Given the description of an element on the screen output the (x, y) to click on. 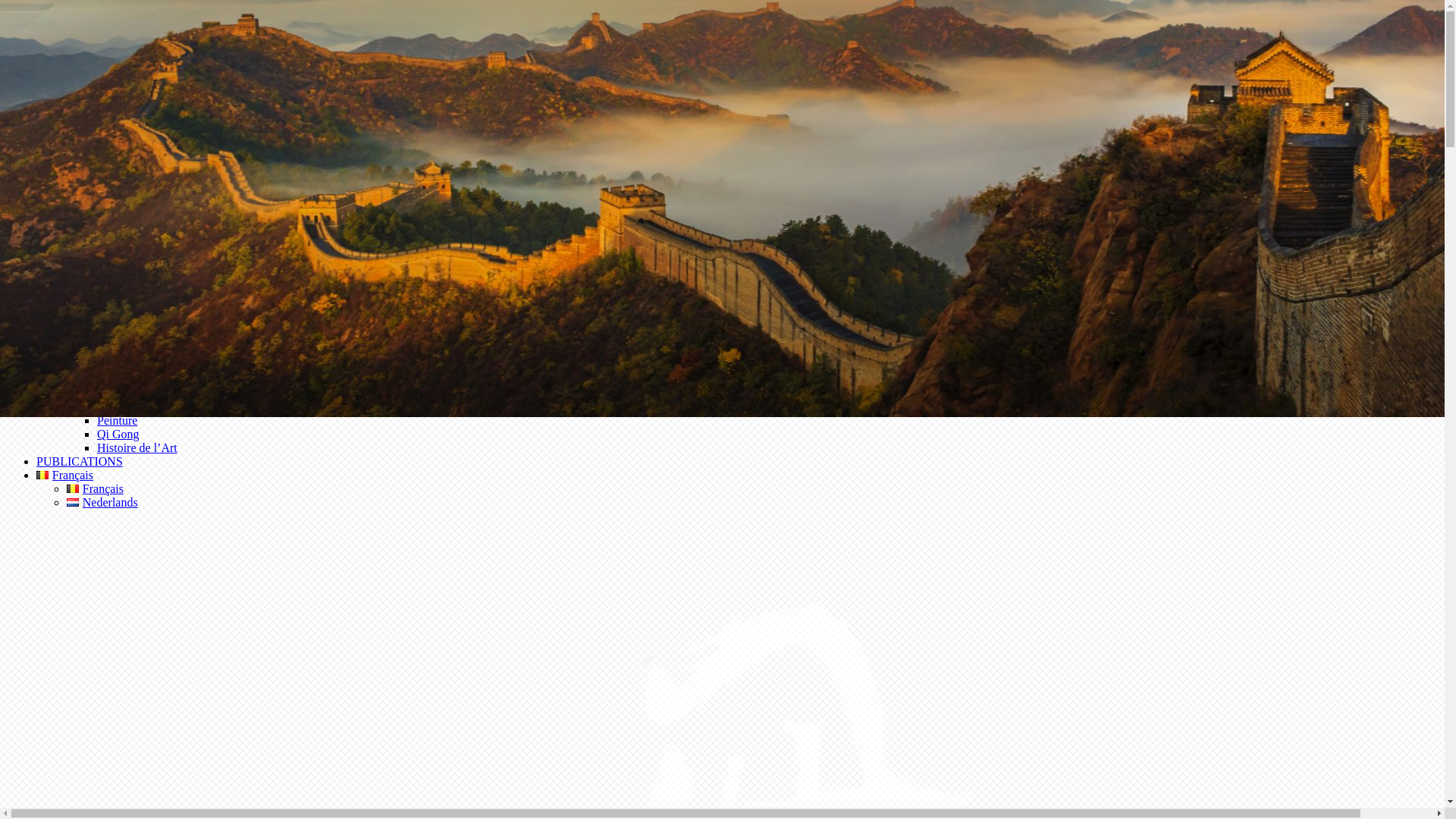
Qi Gong Element type: text (118, 433)
Nederlands Element type: hover (72, 502)
ACTUALITES Element type: text (73, 51)
Langue chinoise (Mandarin) Element type: text (166, 406)
Collaborateurs Element type: text (102, 106)
Voyages Element type: text (86, 351)
Nederlands Element type: text (102, 501)
Peinture Element type: text (117, 420)
Workshop Element type: text (91, 338)
Cours Element type: text (80, 379)
Informations pratiques Element type: text (121, 119)
Skip to content Element type: text (42, 12)
PUBLICATIONS Element type: text (79, 461)
Liens Element type: text (80, 147)
Calligraphie Element type: text (126, 392)
Informations Pratiques Element type: text (121, 256)
Contact Element type: text (85, 174)
Collection des livres Element type: text (116, 201)
